Given the description of an element on the screen output the (x, y) to click on. 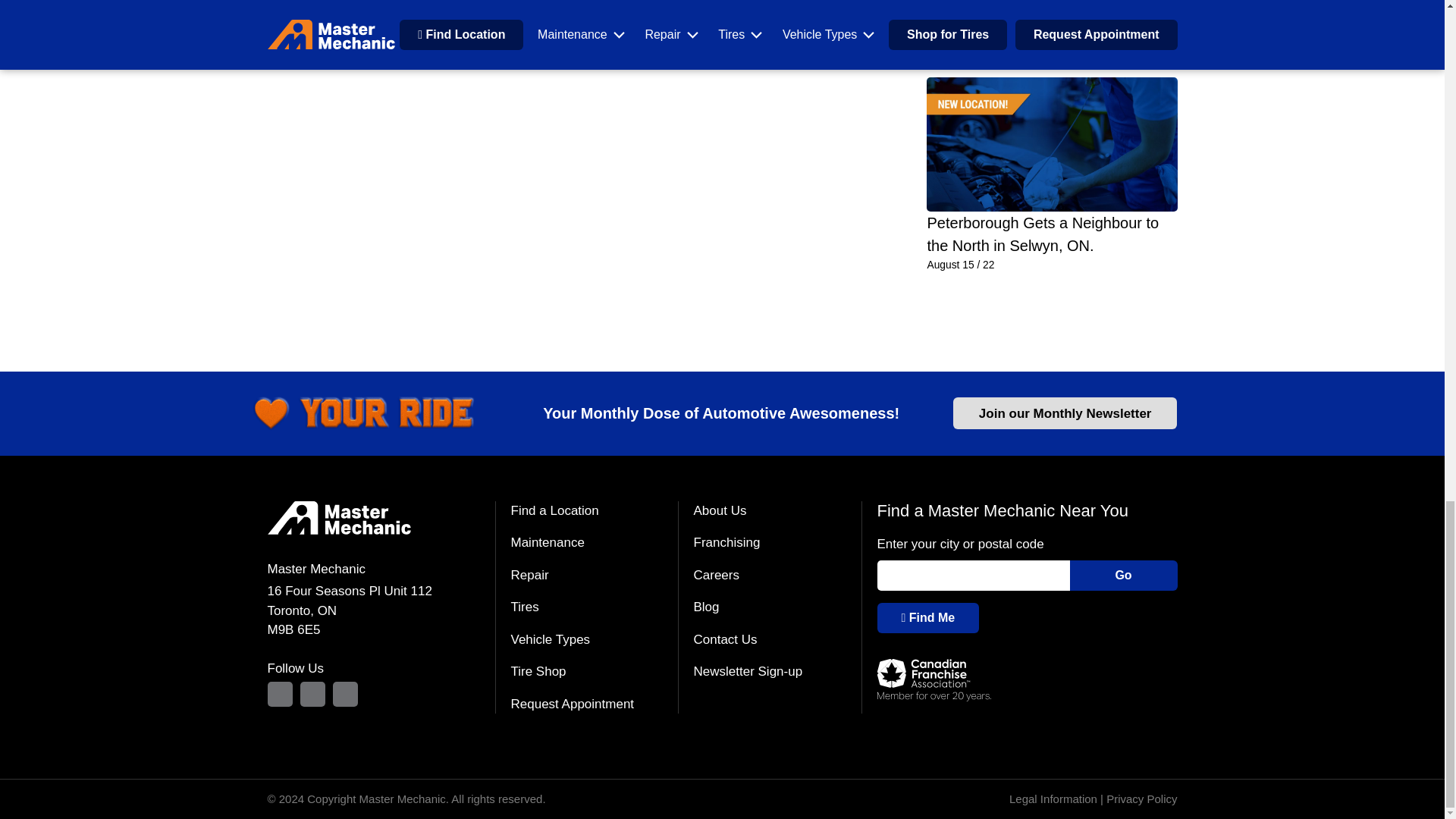
Facebook (311, 693)
Instagram (279, 693)
YouTube (343, 693)
